Given the description of an element on the screen output the (x, y) to click on. 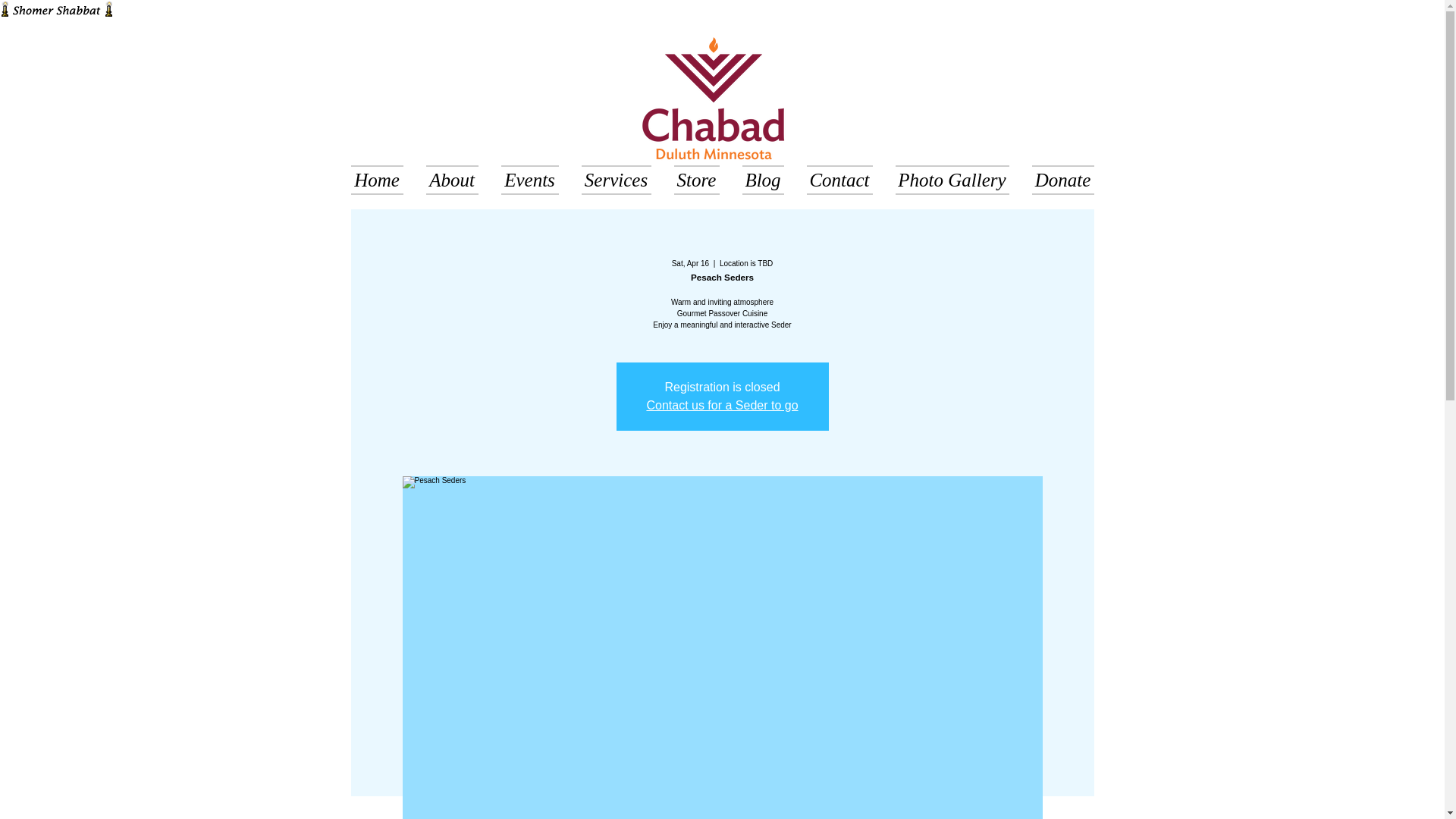
Photo Gallery (951, 176)
Donate (1057, 176)
Contact us for a Seder to go (721, 404)
HolyClock.com (56, 9)
Home (381, 176)
Contact (838, 176)
About (451, 176)
Blog (762, 176)
